Given the description of an element on the screen output the (x, y) to click on. 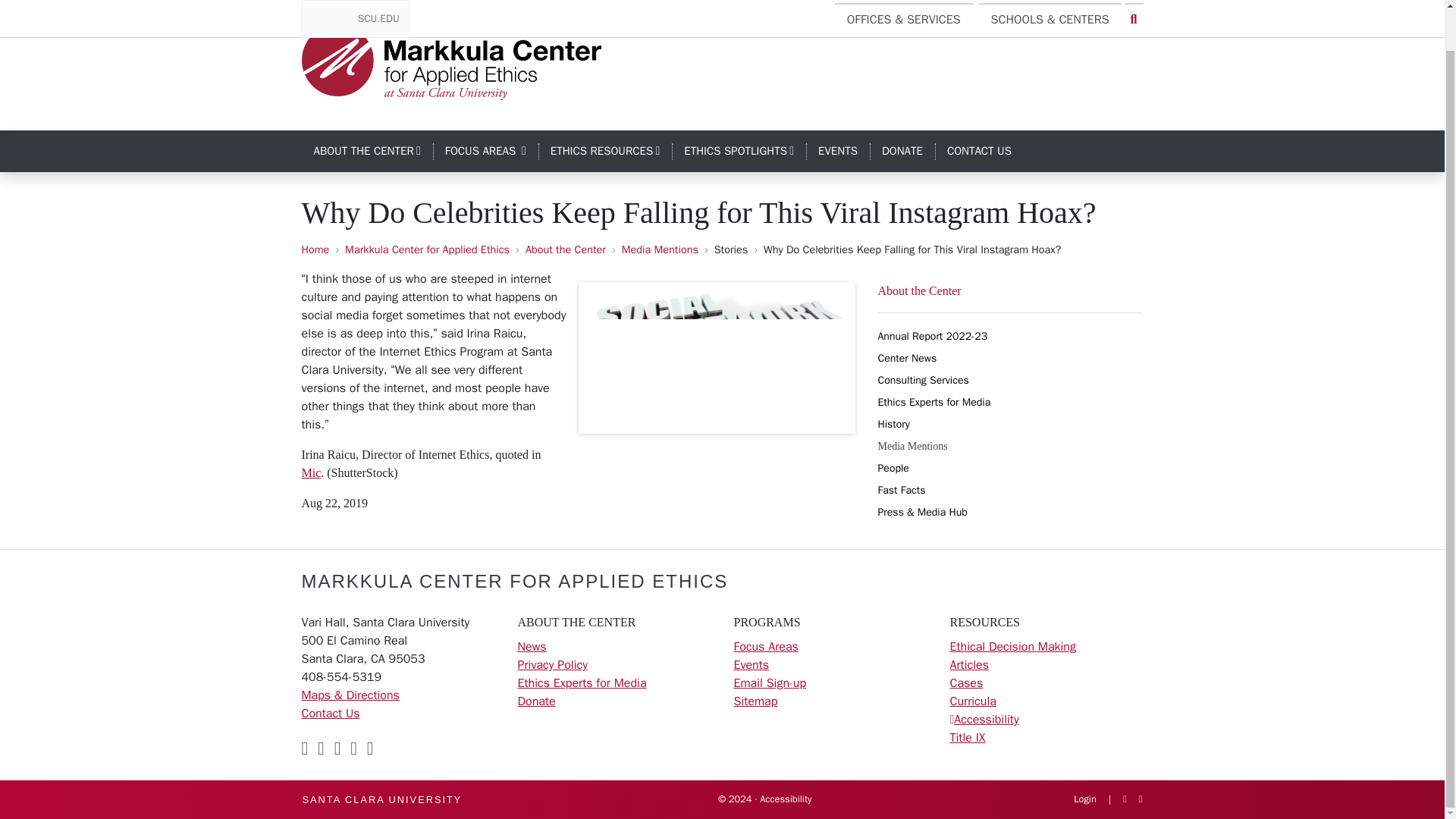
The Office of Equal Opportunity and Title IX (366, 151)
Accessibility (967, 737)
